Given the description of an element on the screen output the (x, y) to click on. 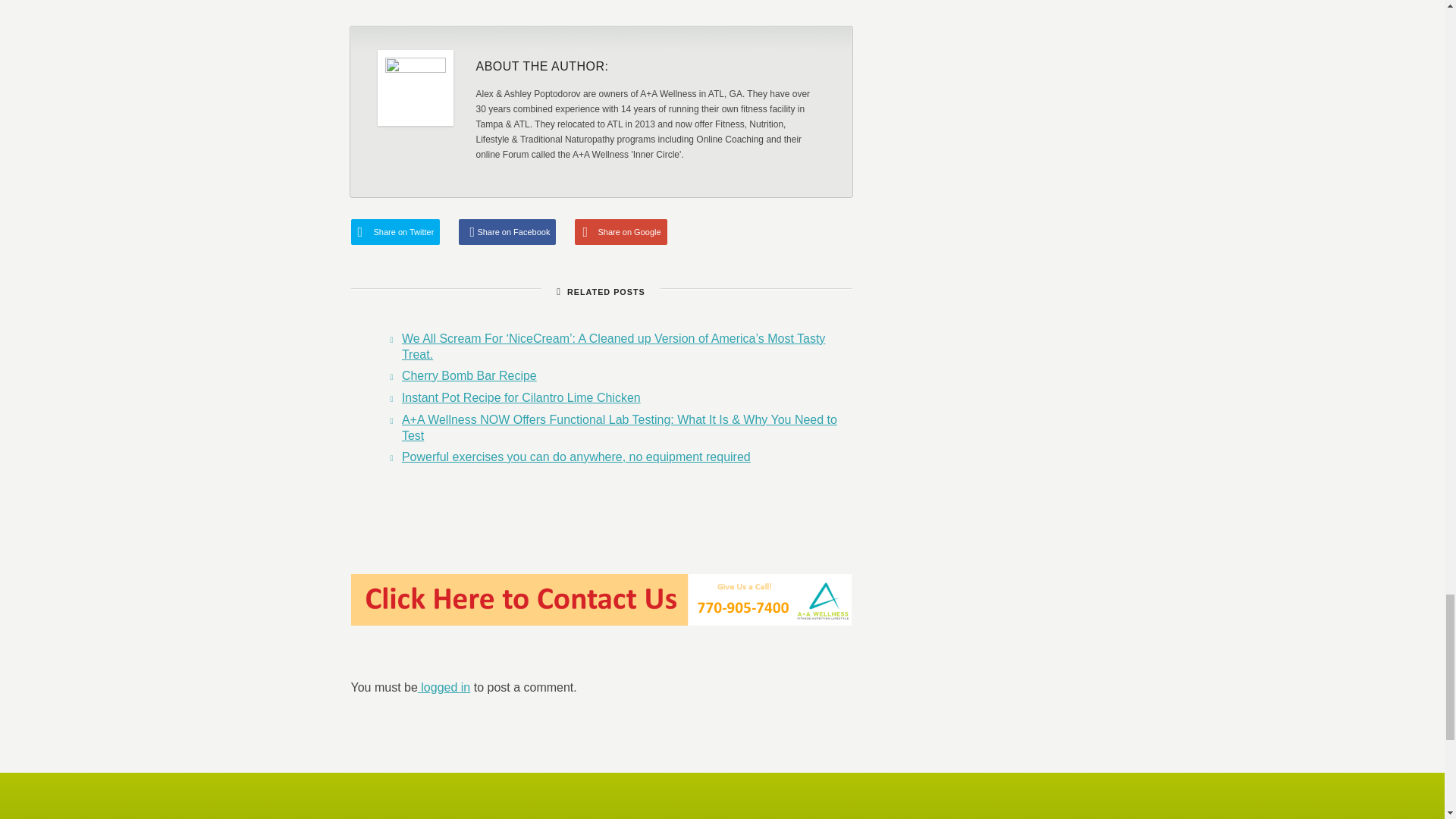
Instant Pot Recipe for Cilantro Lime Chicken (520, 397)
Share (819, 3)
Instant Pot Recipe for Cilantro Lime Chicken (520, 397)
Share on Facebook (507, 231)
Cherry Bomb Bar Recipe (469, 375)
Share on Twitter (394, 231)
Cherry Bomb Bar Recipe (469, 375)
Share on Google (620, 231)
